Given the description of an element on the screen output the (x, y) to click on. 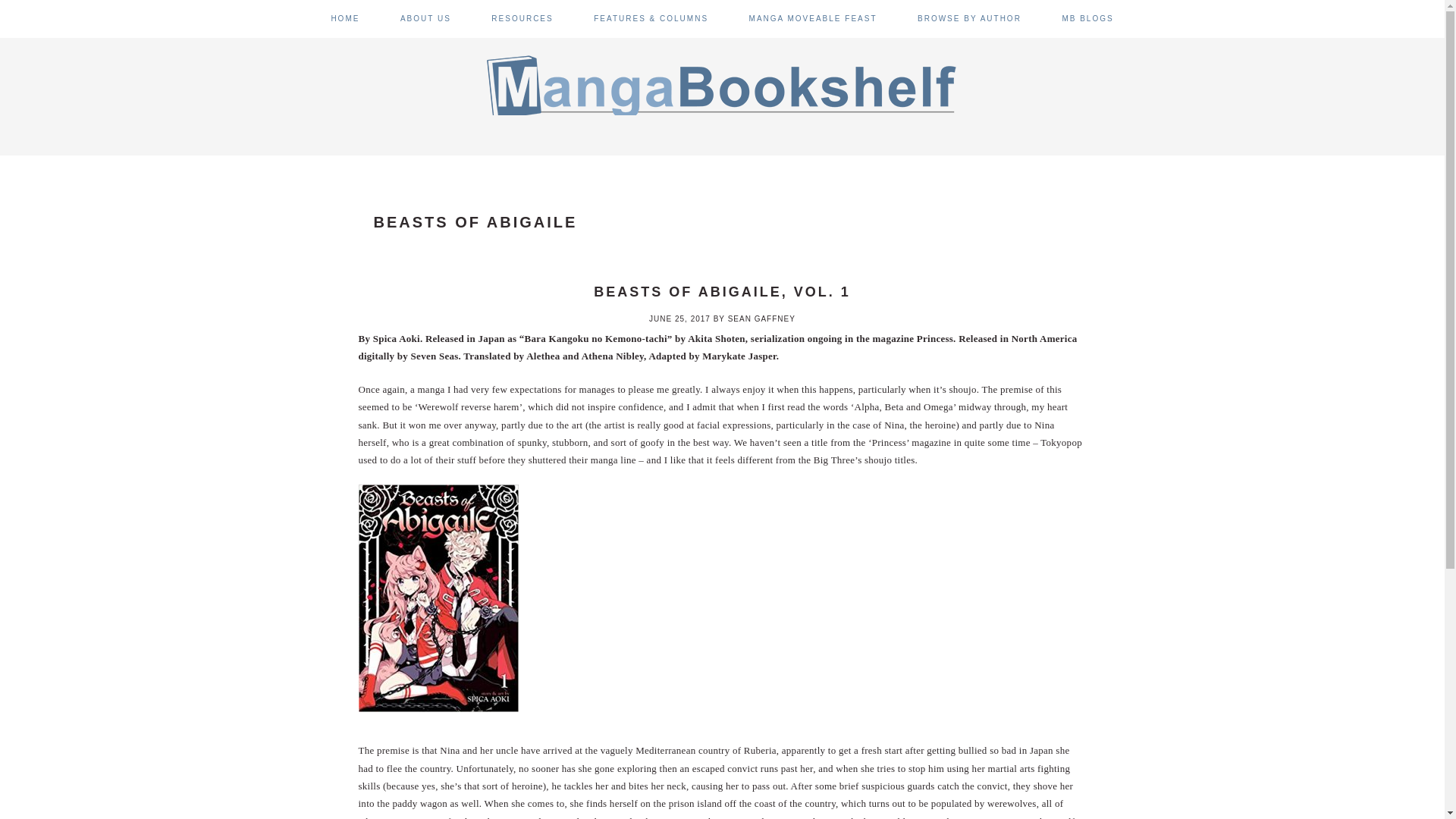
HOME (344, 18)
Posts by Sean Gaffney (761, 318)
RESOURCES (521, 18)
ABOUT US (425, 18)
MANGA MOVEABLE FEAST (813, 18)
